Given the description of an element on the screen output the (x, y) to click on. 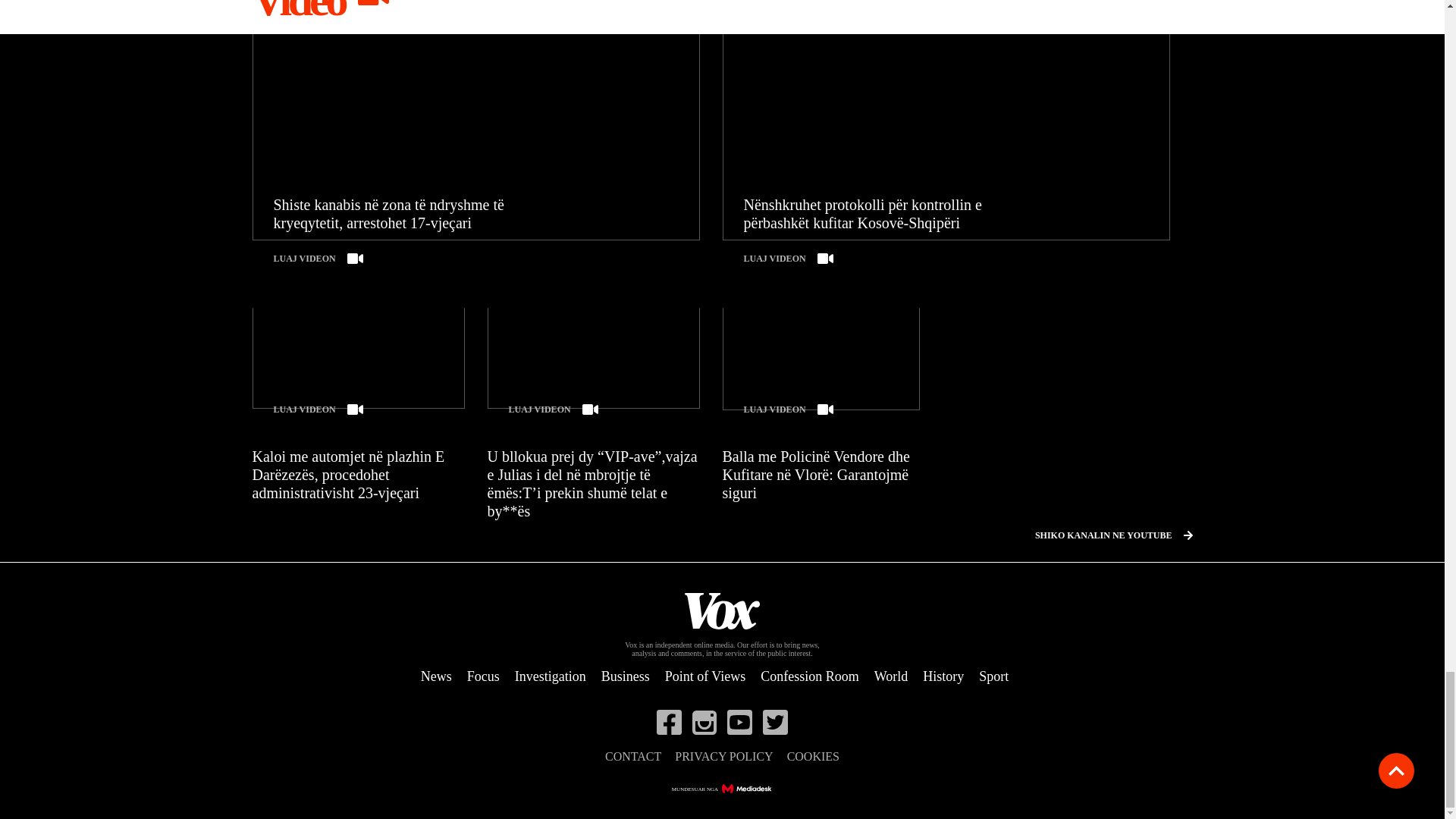
3rd party ad content (1055, 402)
